Given the description of an element on the screen output the (x, y) to click on. 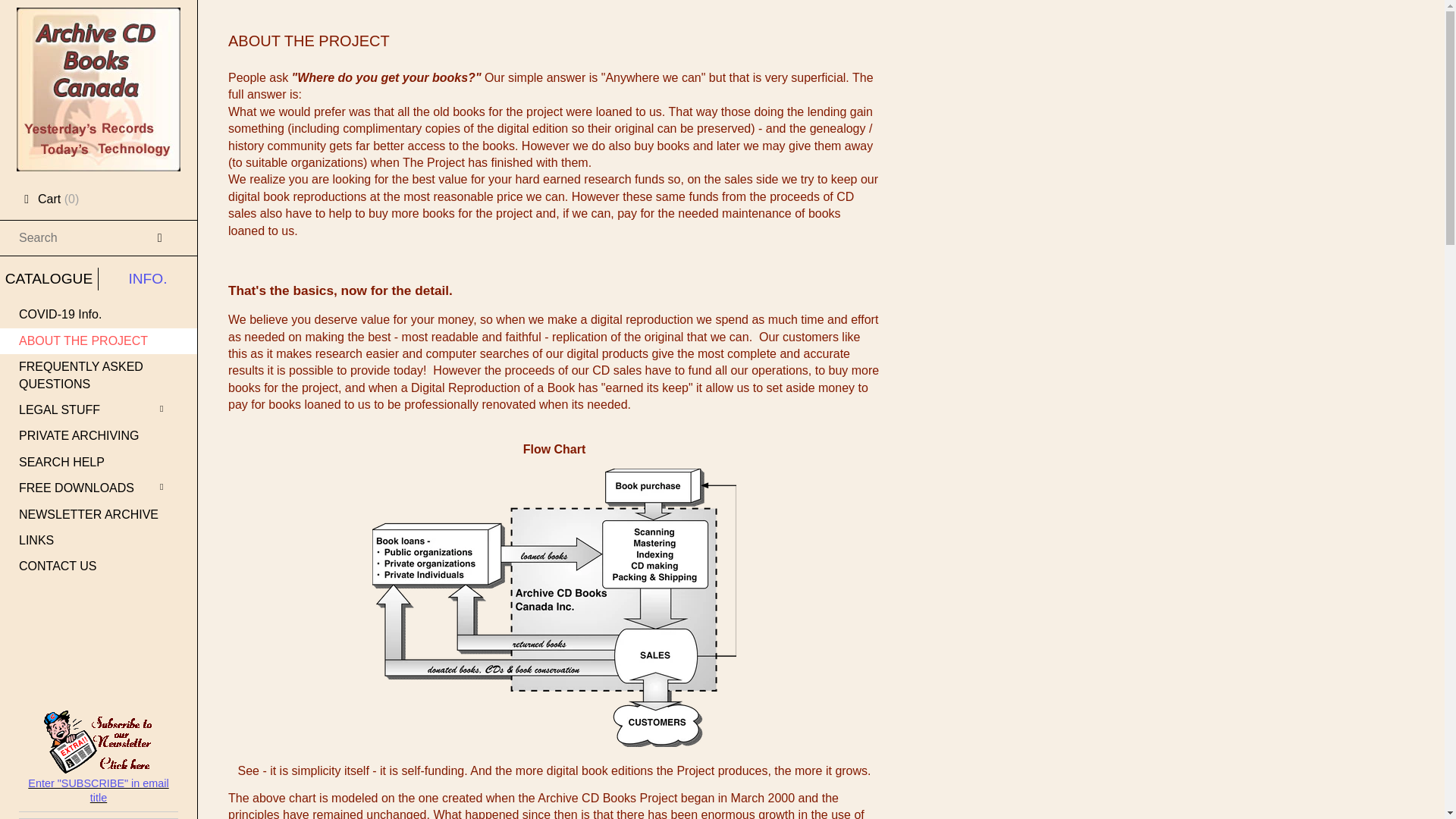
Archive CD Books Canada (98, 20)
